Given the description of an element on the screen output the (x, y) to click on. 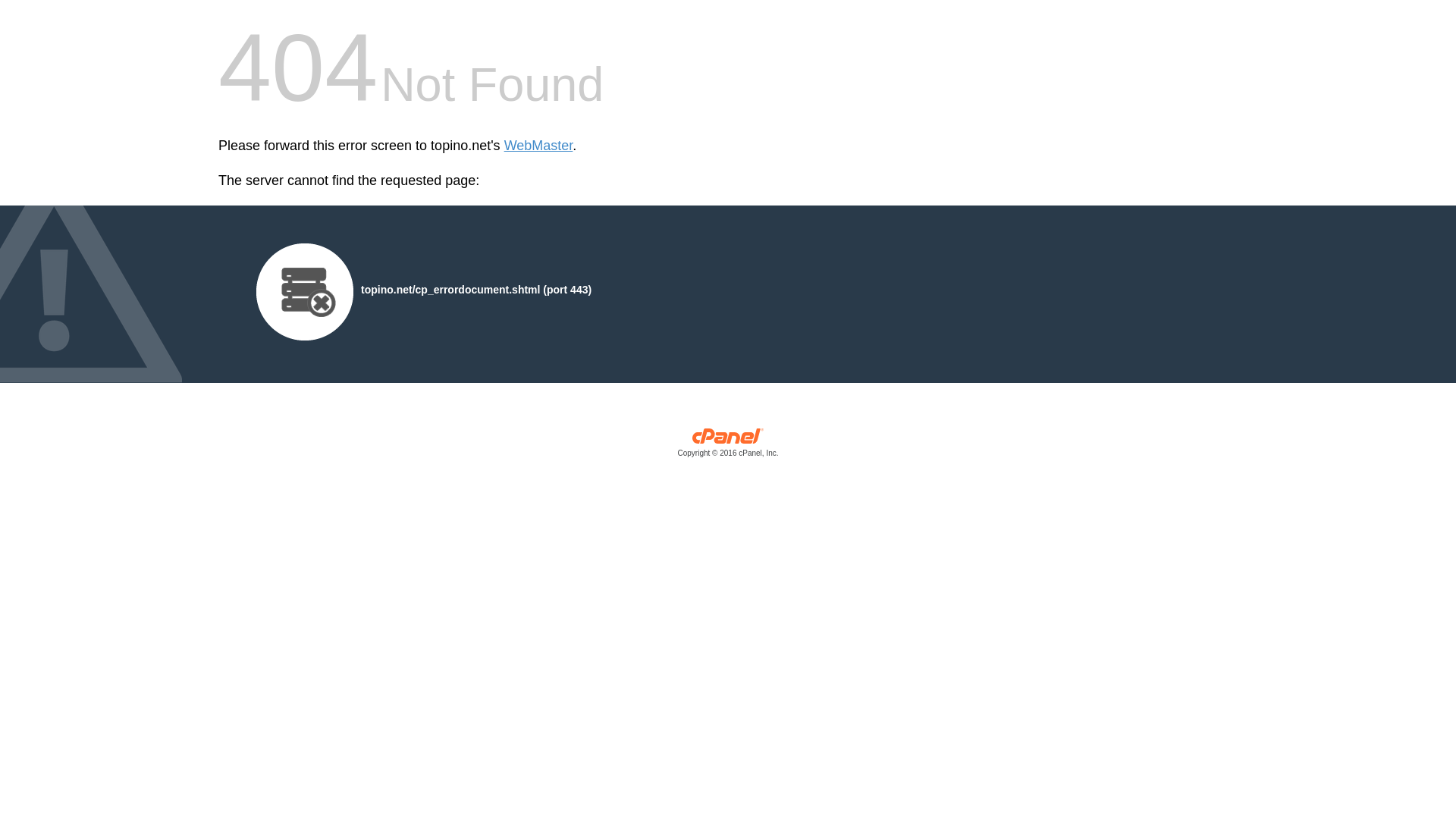
WebMaster (538, 145)
cPanel, Inc. (727, 446)
